Given the description of an element on the screen output the (x, y) to click on. 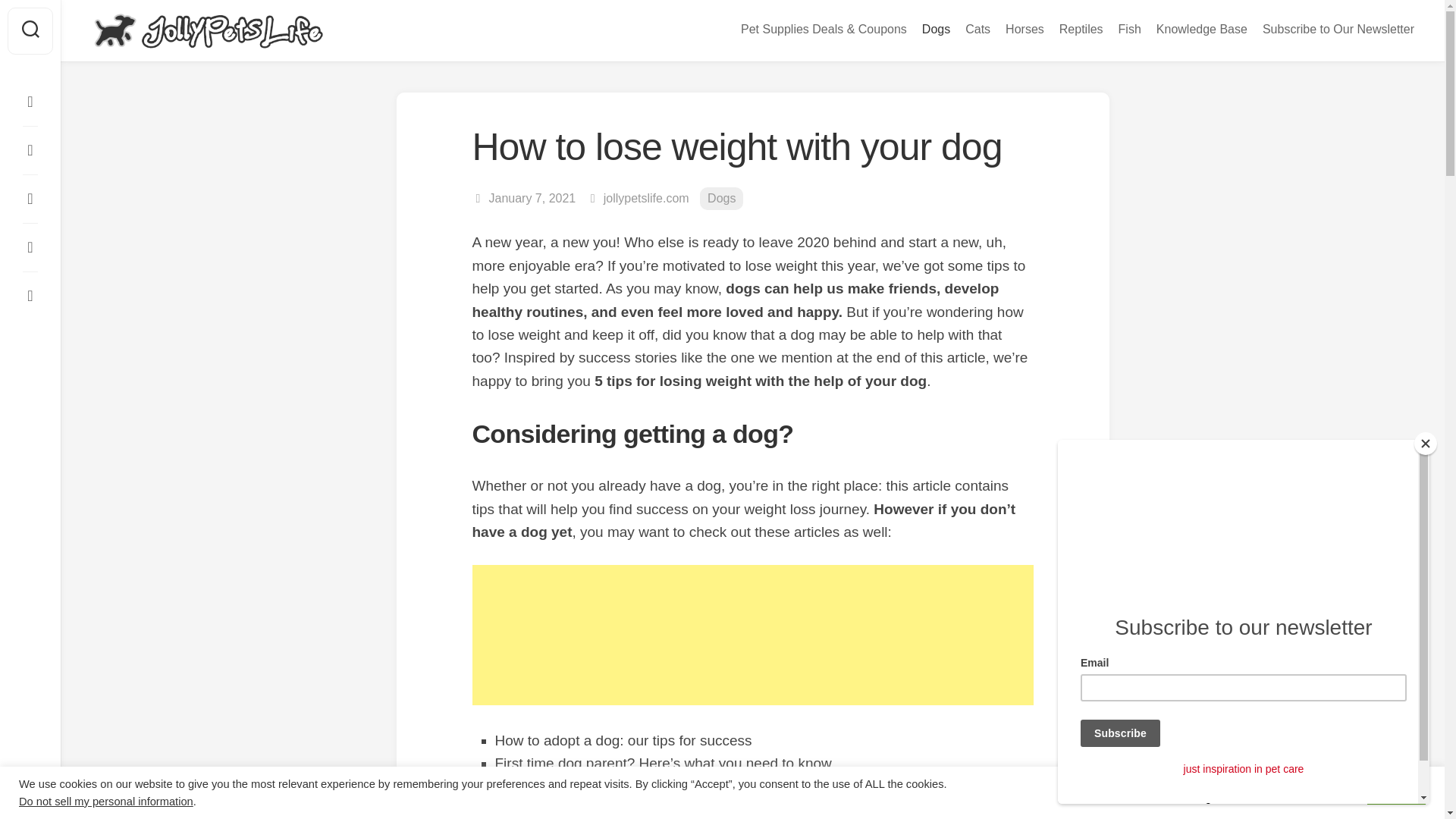
Subscribe to Our Newsletter (1337, 29)
Knowledge Base (1201, 29)
Cats (977, 29)
Reptiles (1081, 29)
Posts by jollypetslife.com (646, 197)
Dogs (935, 29)
Horses (1024, 29)
Dogs (721, 198)
Advertisement (751, 635)
jollypetslife.com (646, 197)
